Given the description of an element on the screen output the (x, y) to click on. 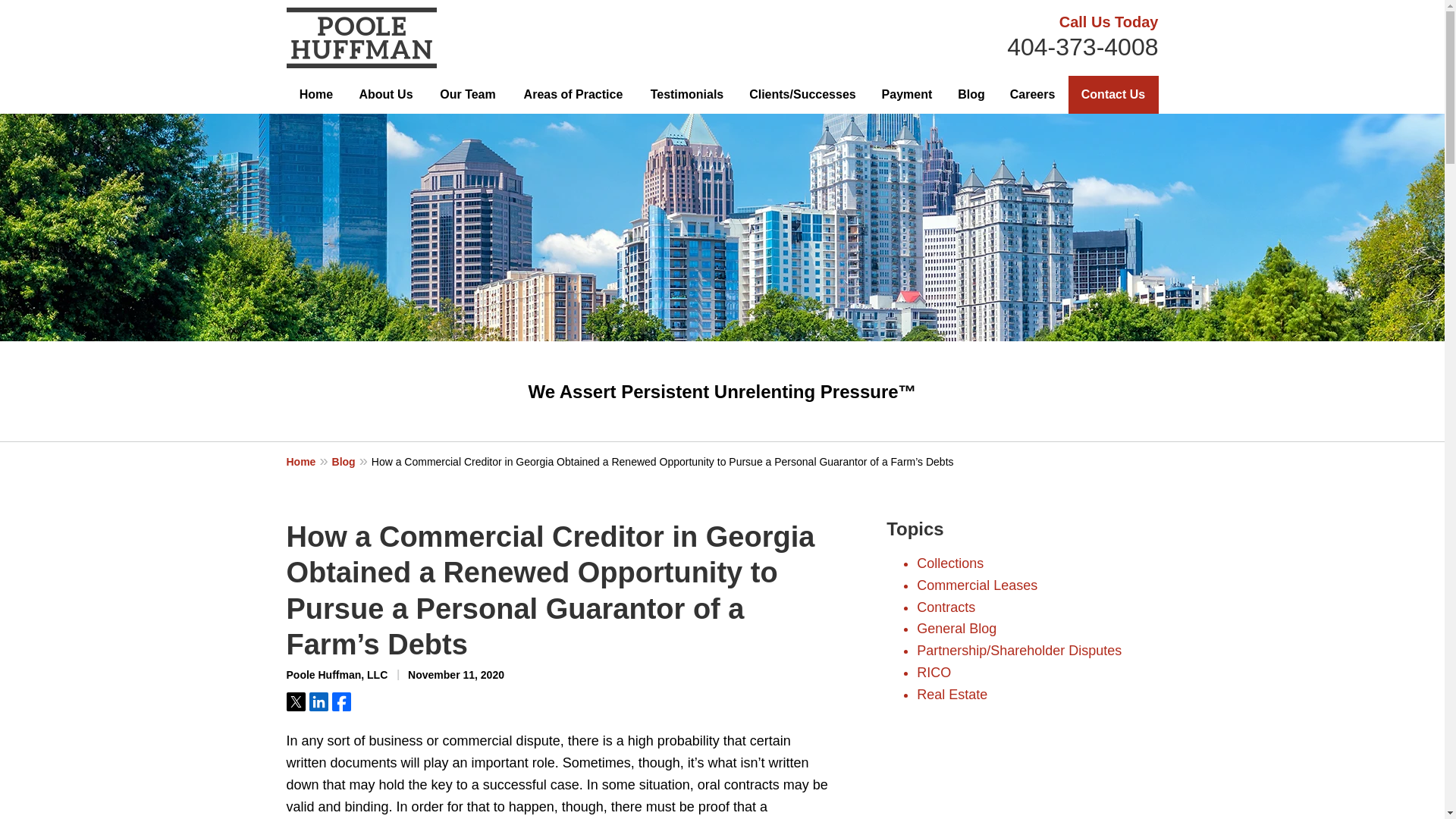
Testimonials (686, 94)
Collections (950, 563)
Contact Us (1113, 94)
Commercial Leases (976, 585)
About Us (385, 94)
Careers (1032, 94)
Blog (351, 461)
Our Team (467, 94)
General Blog (956, 628)
Blog (969, 94)
